Given the description of an element on the screen output the (x, y) to click on. 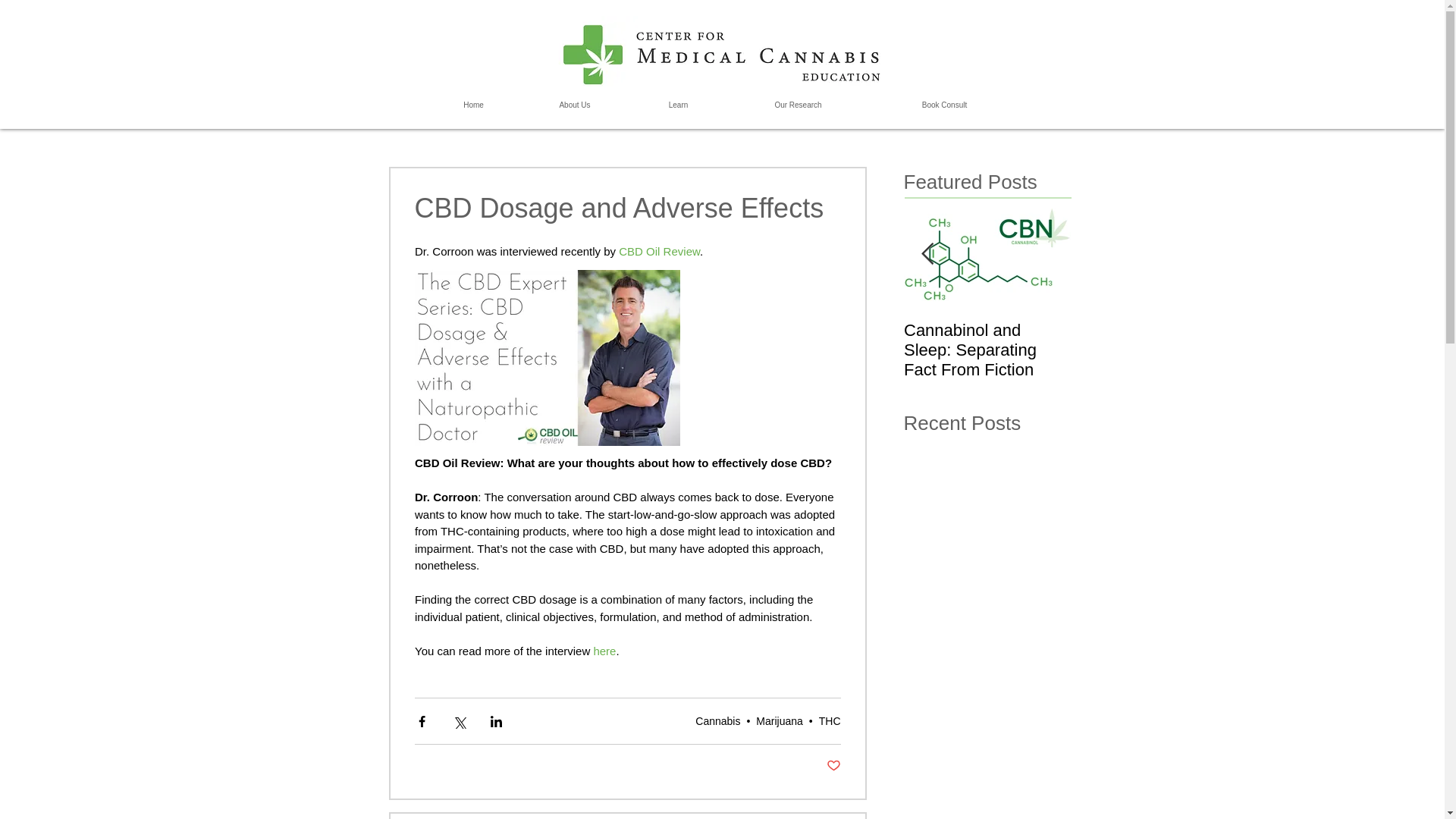
THC (829, 720)
Marijuana (778, 720)
Learn (678, 105)
Cannabis (717, 720)
Cannabinol and Sleep: Separating Fact From Fiction (987, 350)
here (603, 650)
About Us (573, 105)
Book Consult (944, 105)
CBD Oil Review (659, 250)
Home (472, 105)
Topical CBD for Pain - A Primer for Clinicians (1321, 340)
Our Research (798, 105)
Post not marked as liked (834, 765)
